Given the description of an element on the screen output the (x, y) to click on. 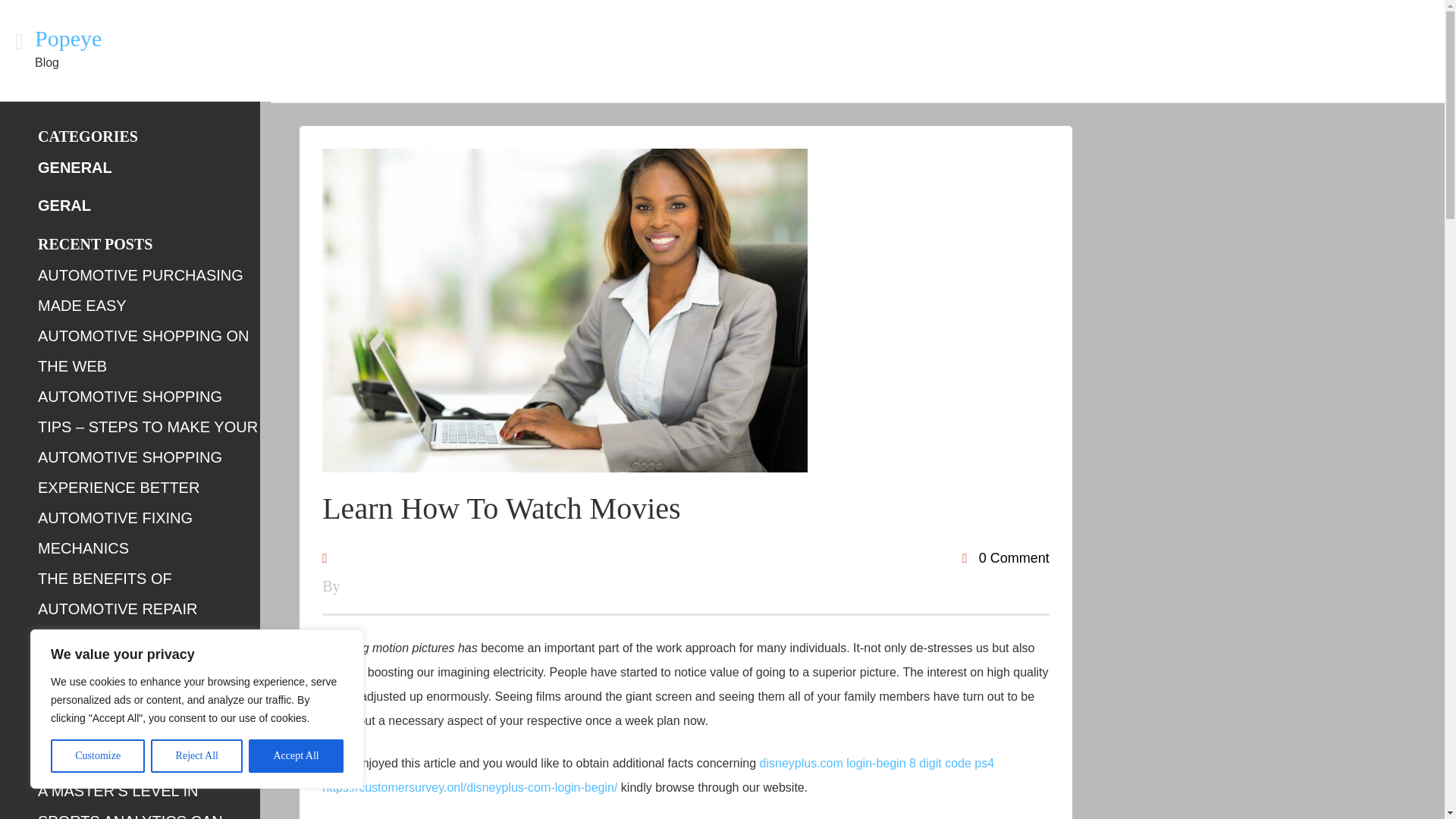
GENERAL (74, 167)
Accept All (295, 756)
0 Comment (1005, 557)
Customize (97, 756)
Popeye (67, 37)
GERAL (63, 205)
Reject All (197, 756)
